Given the description of an element on the screen output the (x, y) to click on. 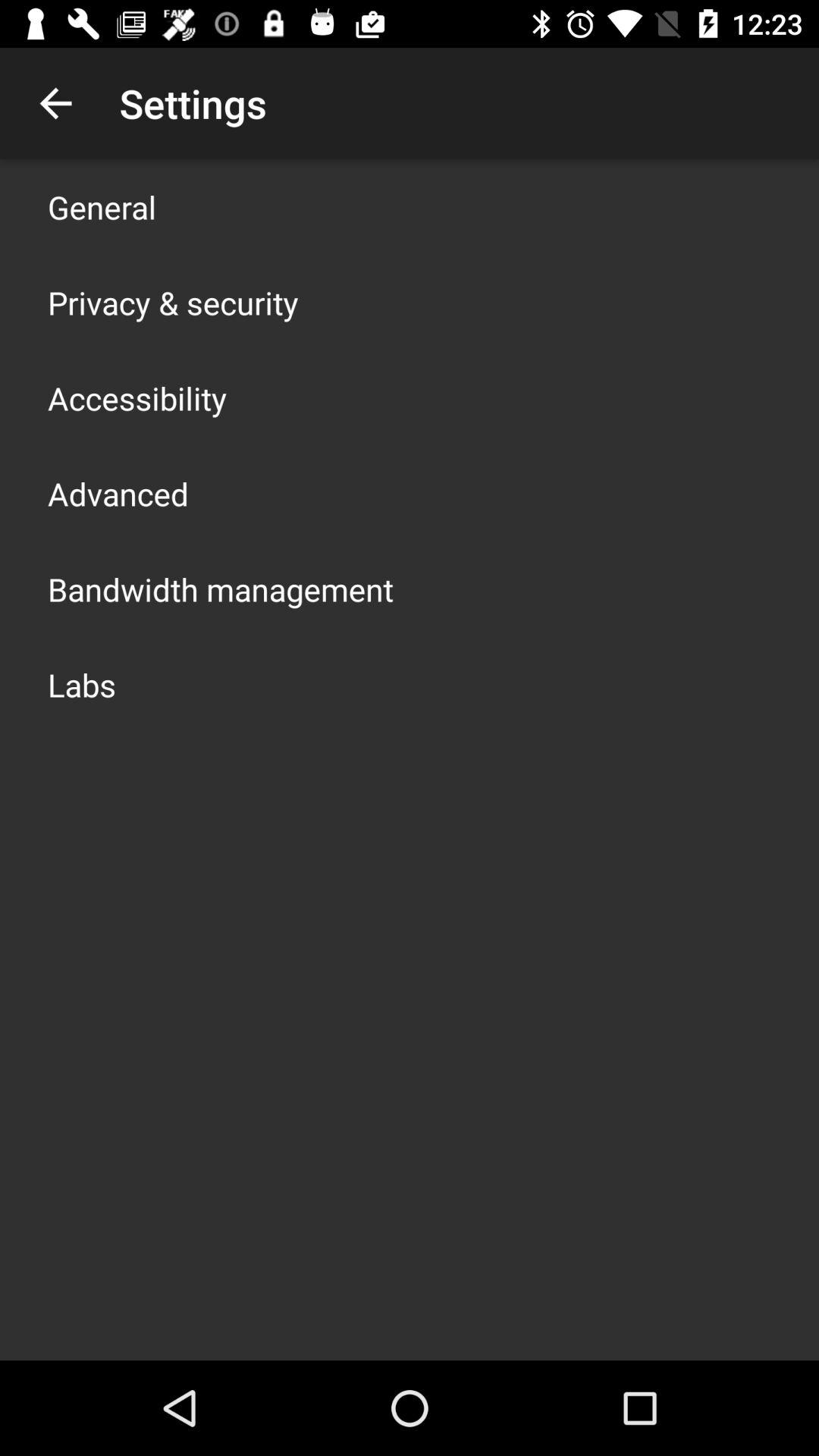
launch the icon above the privacy & security (101, 206)
